Given the description of an element on the screen output the (x, y) to click on. 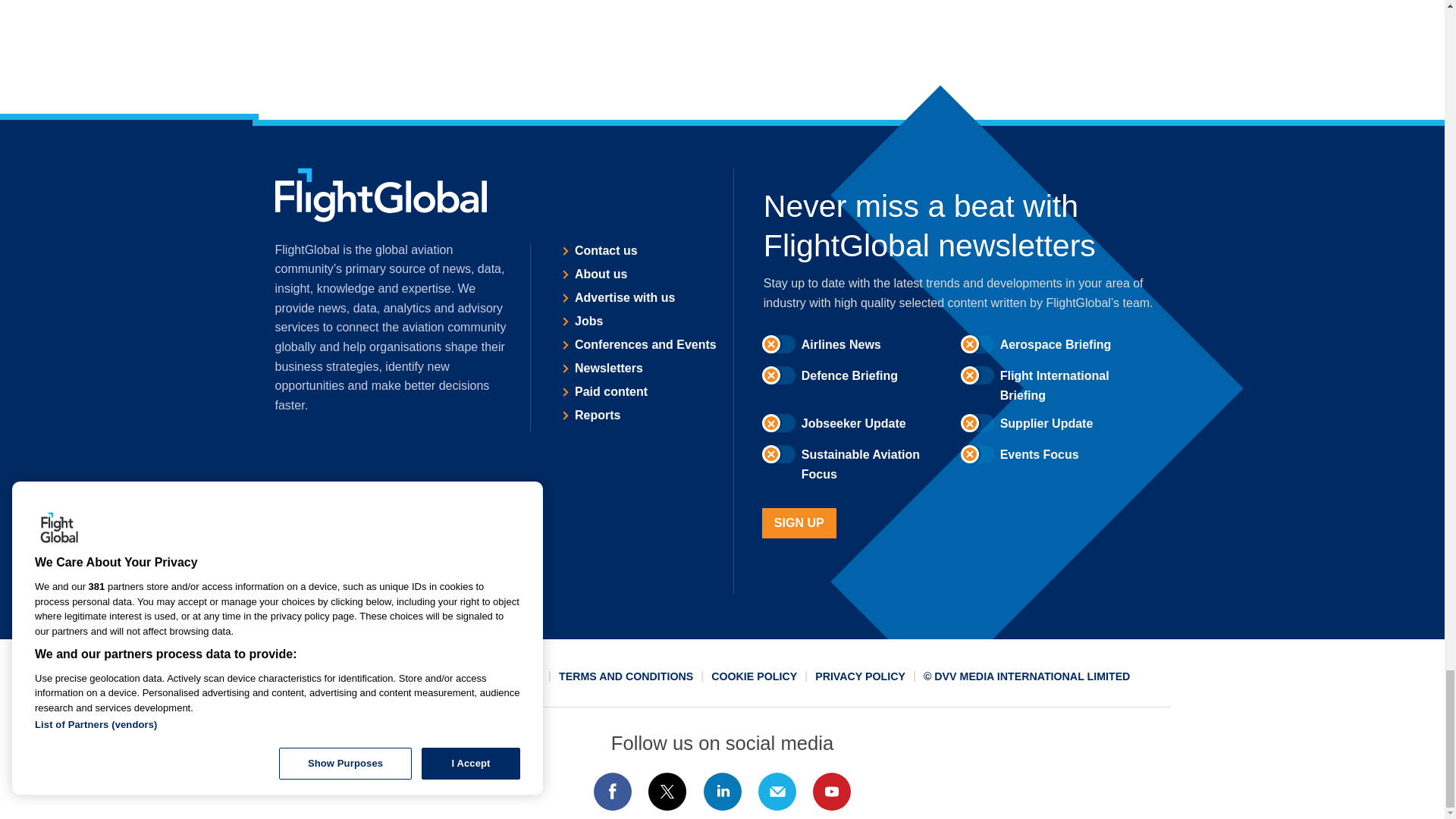
Connect with us on Linked In (721, 791)
Email us (776, 791)
Connect with us on Twitter (667, 791)
Connect with us on Facebook (611, 791)
Connect with us on Youtube (831, 791)
